Given the description of an element on the screen output the (x, y) to click on. 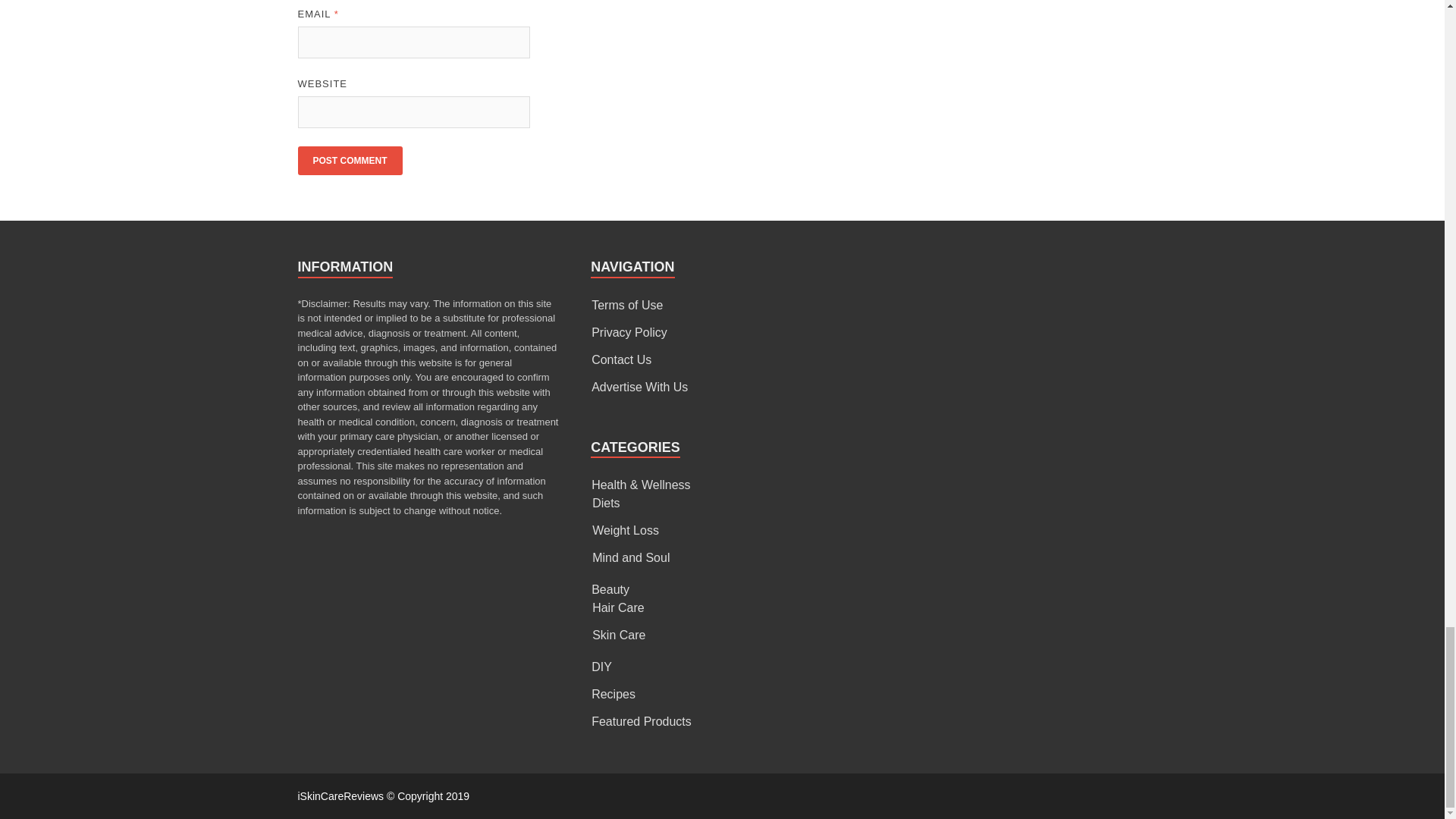
Post Comment (349, 160)
